Given the description of an element on the screen output the (x, y) to click on. 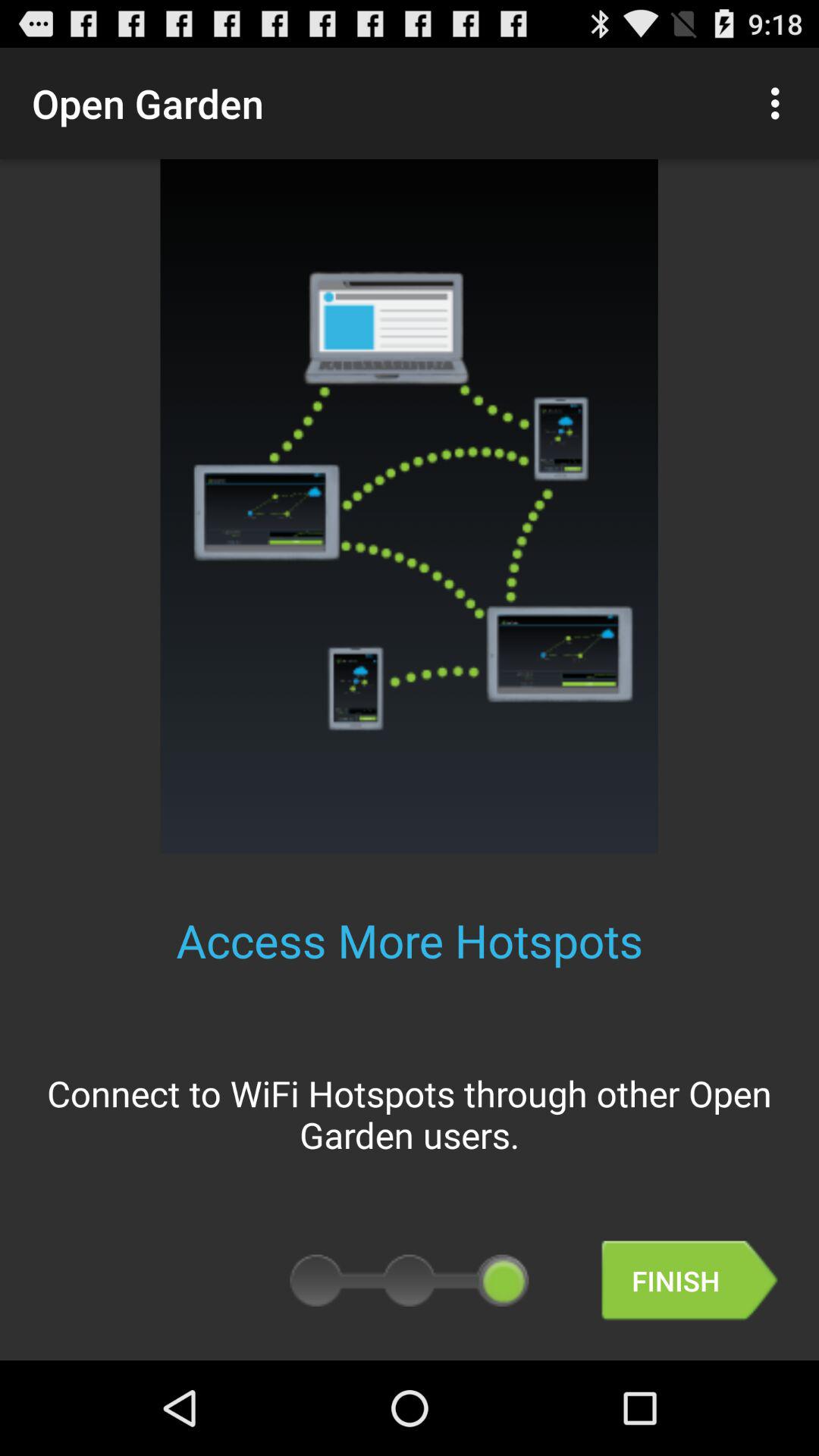
launch finish item (689, 1280)
